Given the description of an element on the screen output the (x, y) to click on. 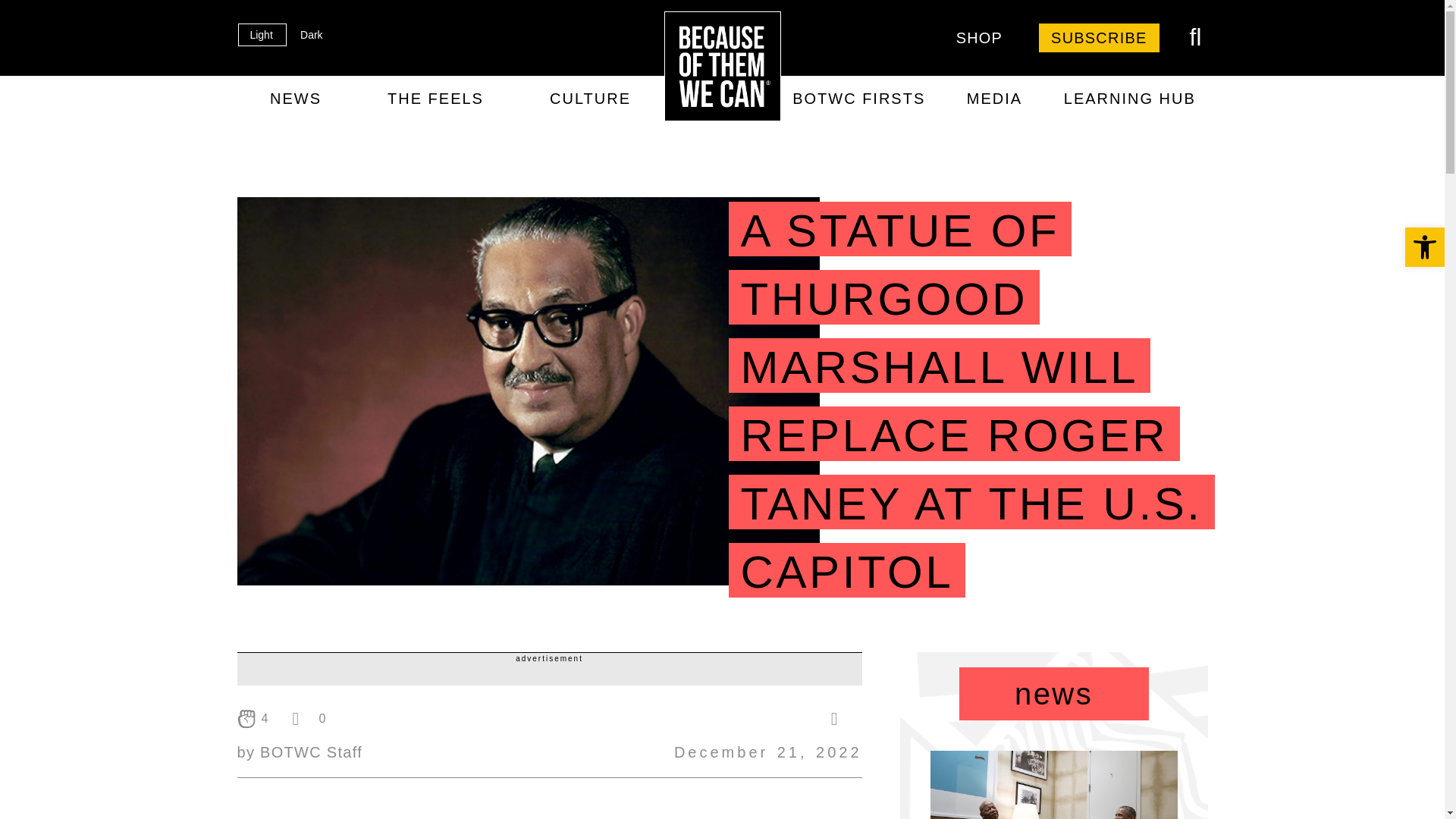
THE FEELS (407, 83)
CULTURE (589, 98)
NEWS (294, 98)
THE FEELS (435, 98)
CULTURE (510, 83)
Accessibility Tools (1424, 247)
BOTWC FIRSTS (633, 83)
SHOP (978, 37)
SUBSCRIBE (1098, 37)
MEDIA (742, 83)
BOTWC FIRSTS (858, 98)
LEARNING HUB (851, 83)
MEDIA (994, 98)
LEARNING HUB (1129, 98)
SHOP (957, 83)
